Given the description of an element on the screen output the (x, y) to click on. 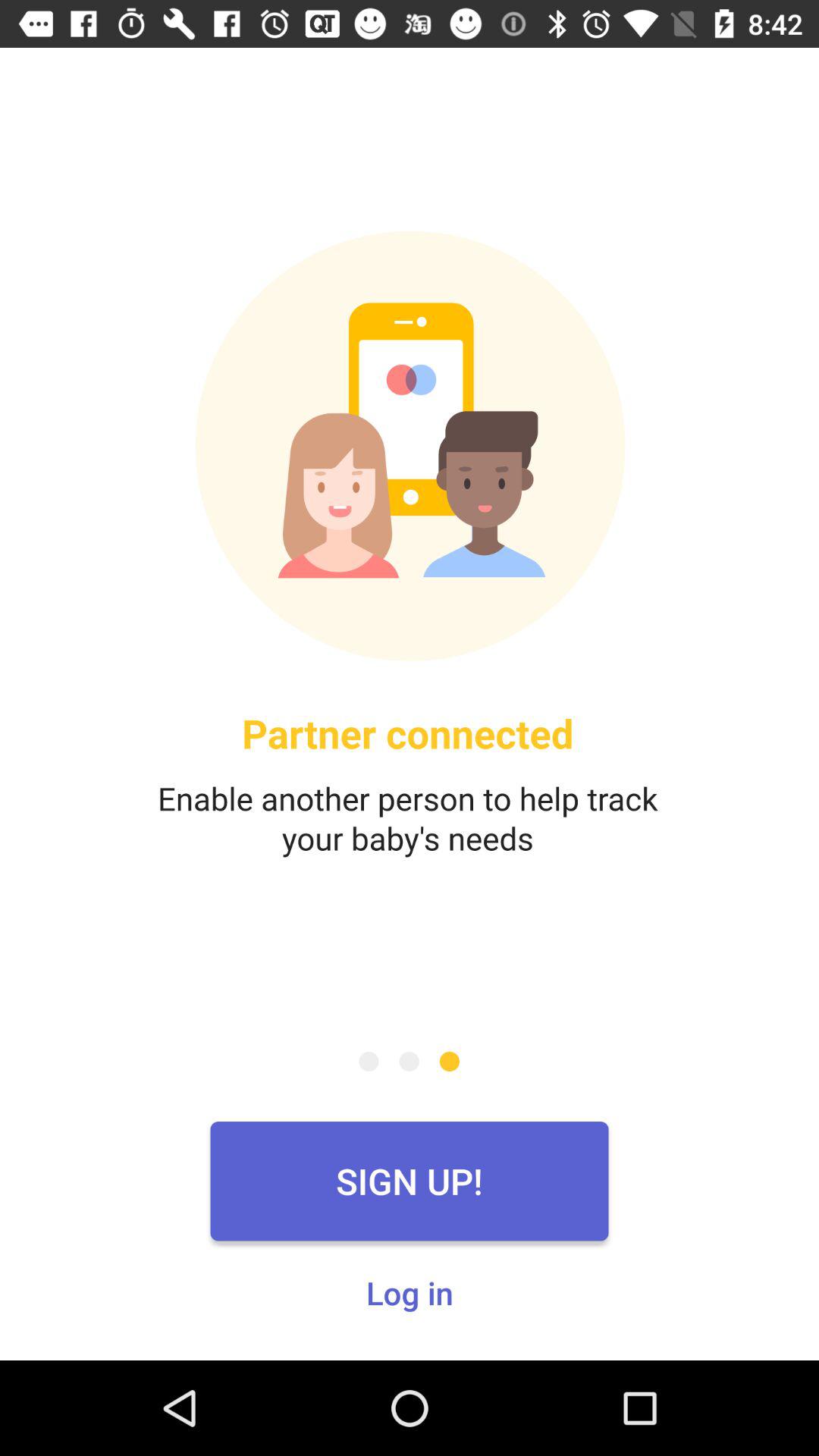
flip until the sign up! icon (409, 1181)
